Given the description of an element on the screen output the (x, y) to click on. 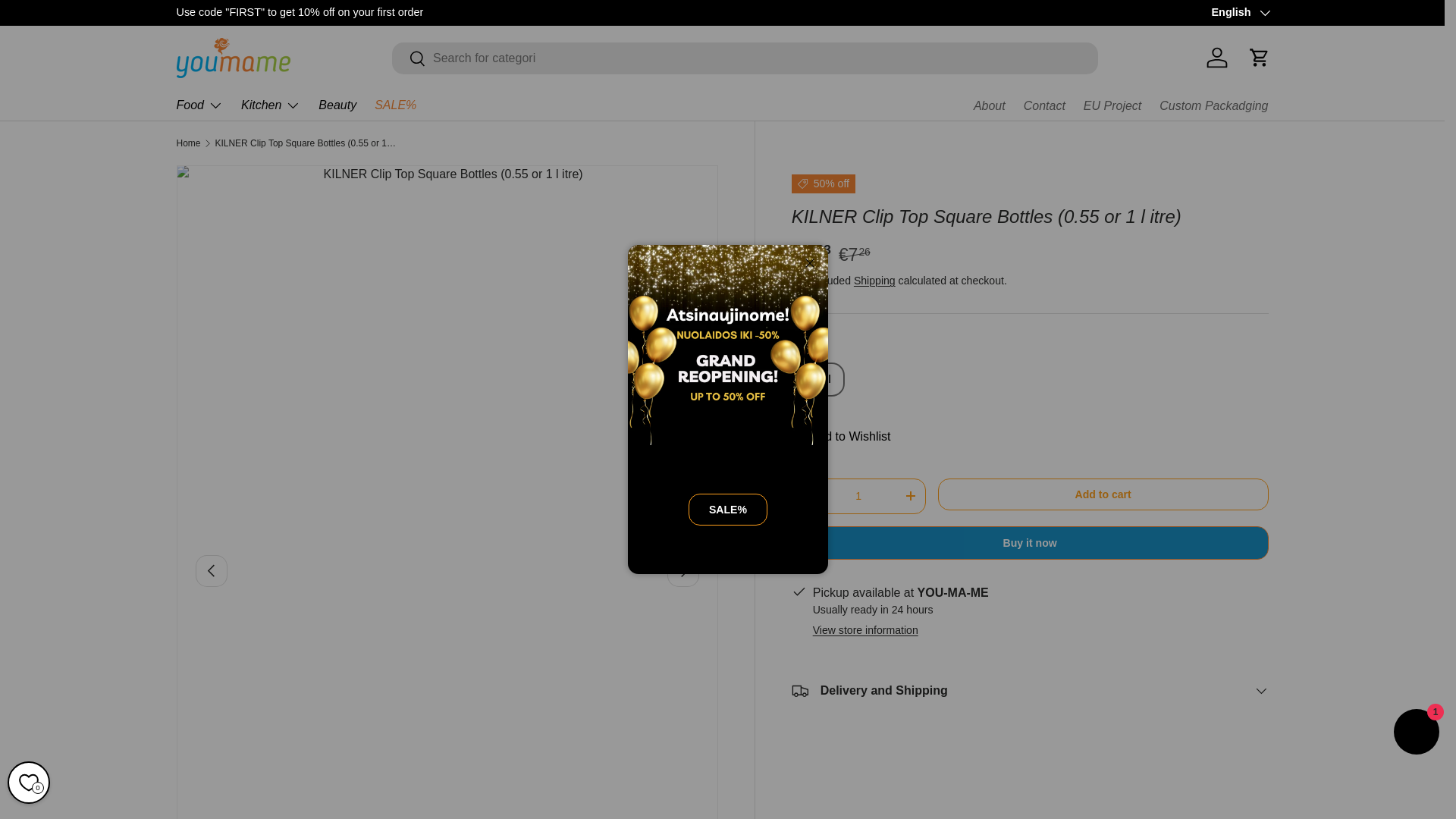
1 (858, 495)
Skip to content (68, 21)
Log in (1216, 57)
Search (408, 58)
Shopify online store chat (1416, 733)
Food (199, 105)
Cart (1258, 57)
English (1239, 12)
